Given the description of an element on the screen output the (x, y) to click on. 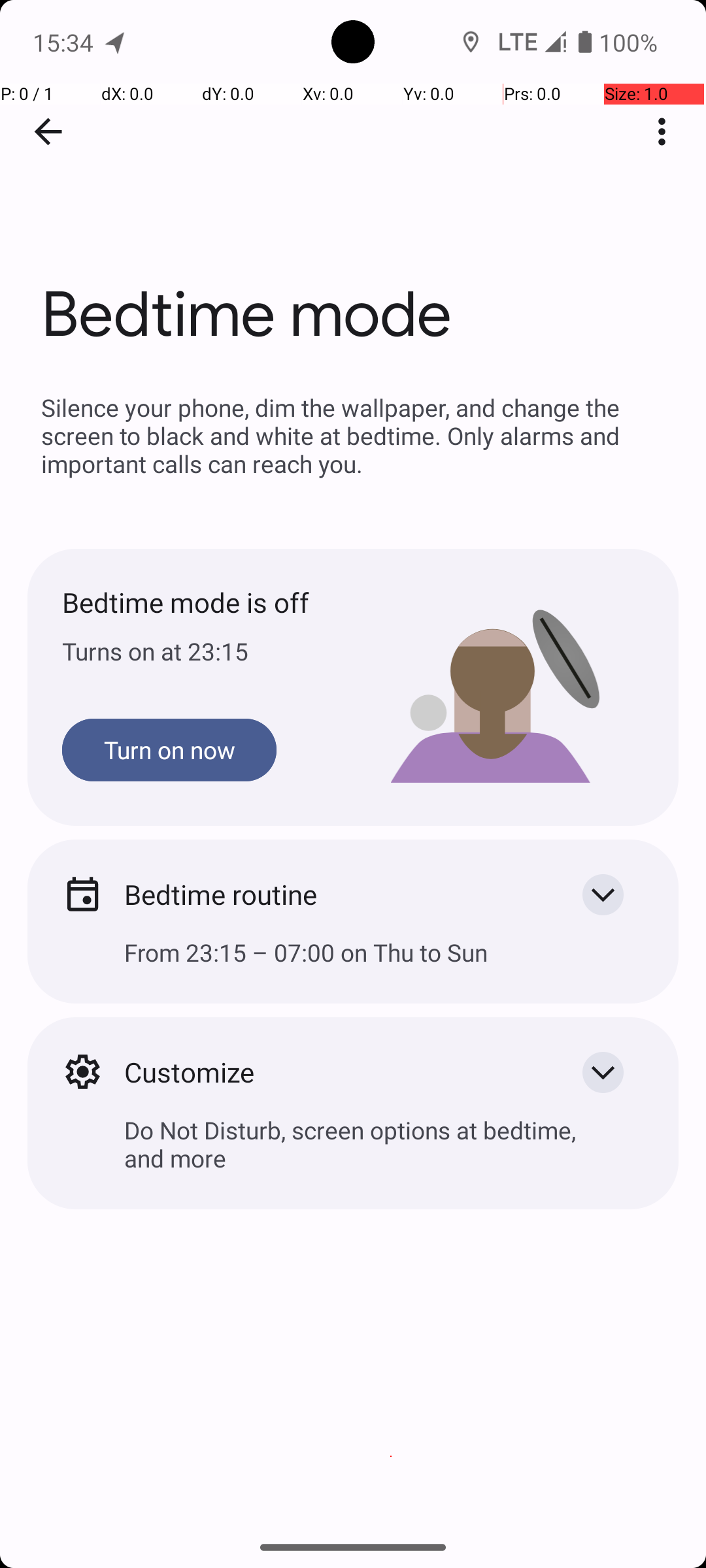
Bedtime mode Element type: android.widget.FrameLayout (353, 195)
Silence your phone, dim the wallpaper, and change the screen to black and white at bedtime. Only alarms and important calls can reach you. Element type: android.widget.TextView (352, 435)
Bedtime mode is off Element type: android.widget.TextView (207, 601)
Turns on at 23:15 Element type: android.widget.TextView (207, 650)
Turn on now Element type: android.widget.Button (169, 749)
Bedtime routine Element type: android.widget.TextView (332, 893)
Expand the card Bedtime routine Element type: android.widget.ImageView (602, 894)
From 23:15 – 07:00 on Thu to Sun Element type: android.widget.TextView (352, 962)
Customize Element type: android.widget.TextView (332, 1071)
Expand the card Customize Element type: android.widget.ImageView (602, 1071)
Do Not Disturb, screen options at bedtime, and more Element type: android.widget.TextView (352, 1154)
